Given the description of an element on the screen output the (x, y) to click on. 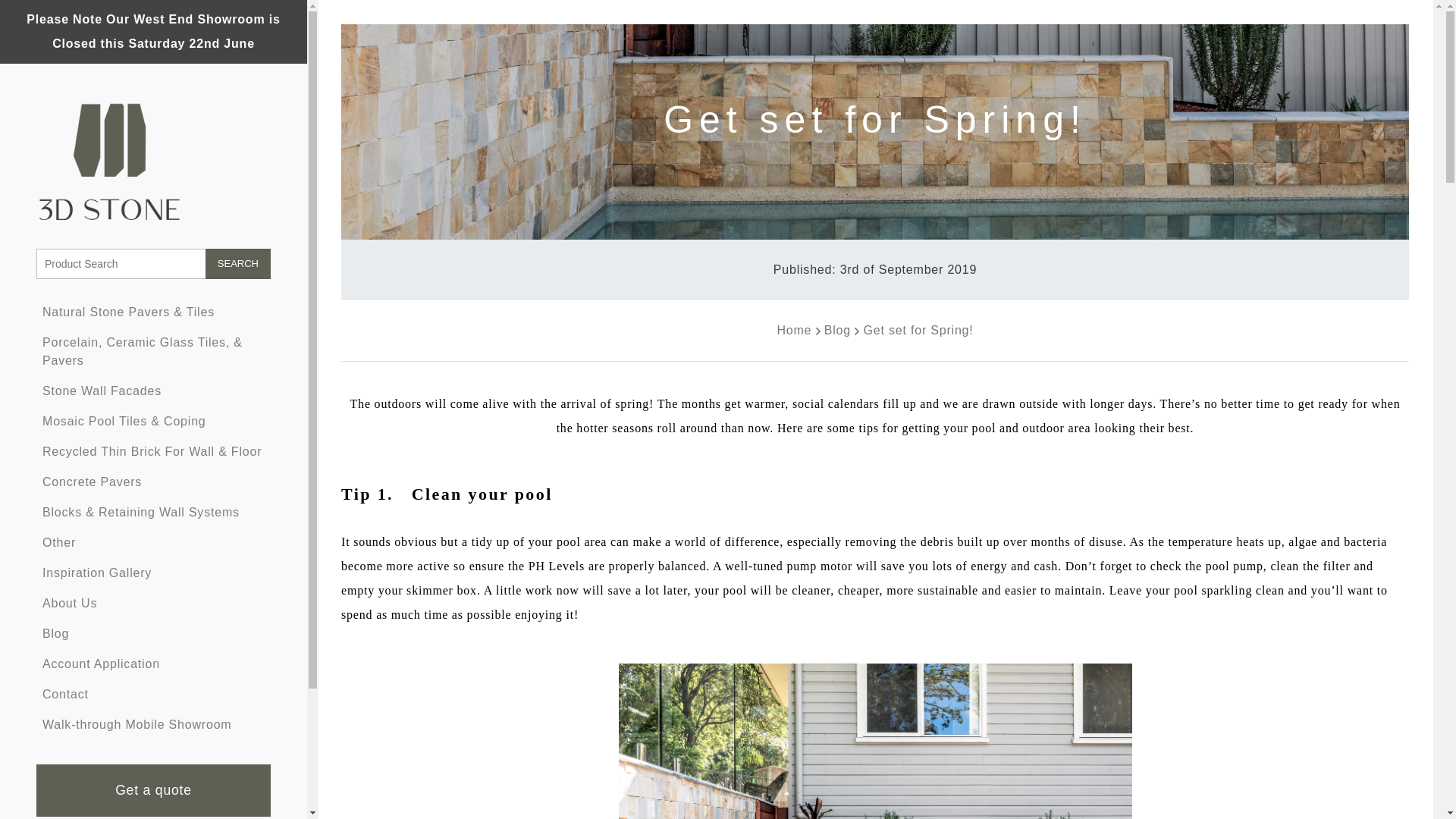
Blog (153, 634)
Contact (153, 694)
Blog (837, 329)
Stone Wall Facades (153, 390)
Inspiration Gallery (153, 572)
Search (237, 263)
Account Application (153, 664)
Search (237, 263)
Home (793, 329)
About Us (153, 603)
Concrete Pavers (153, 481)
Other (153, 542)
Walk-through Mobile Showroom (153, 725)
Get a quote (153, 790)
